Given the description of an element on the screen output the (x, y) to click on. 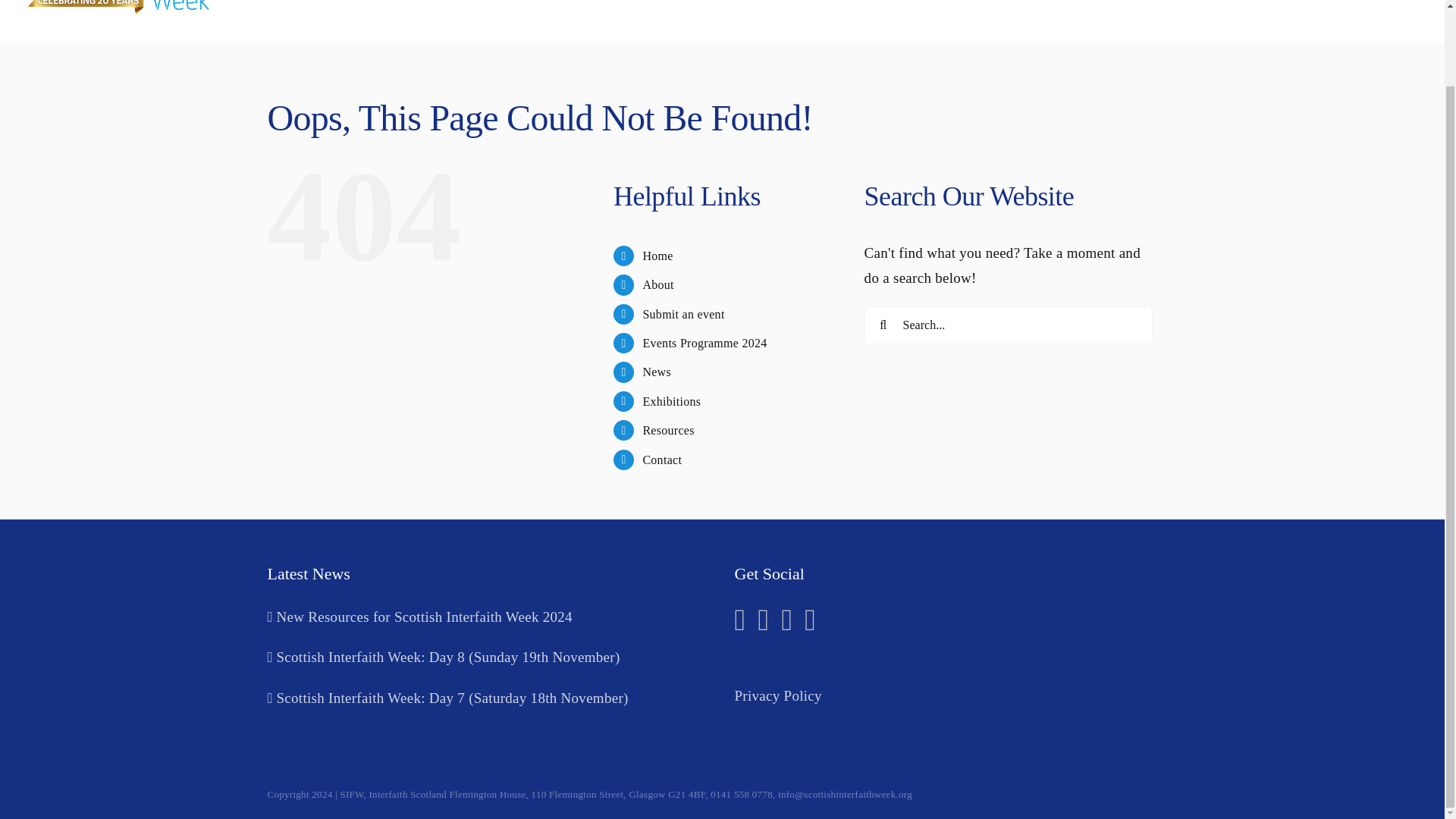
Events Programme 2024 (704, 342)
Contact (1399, 21)
Events Programme 2024 (1062, 21)
Contact (661, 459)
New Resources for Scottish Interfaith Week 2024 (488, 617)
Resources (668, 430)
News (656, 371)
Submit an event (682, 314)
Submit an event (923, 21)
About (657, 284)
